Given the description of an element on the screen output the (x, y) to click on. 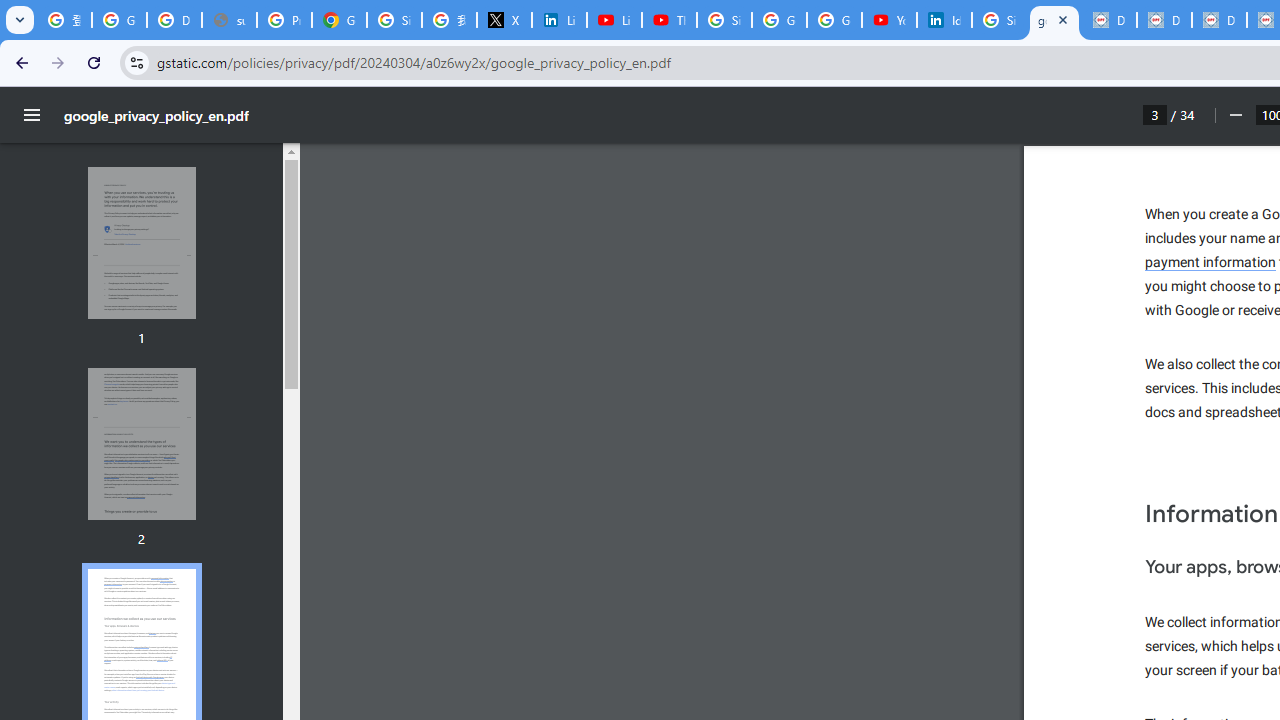
Sign in - Google Accounts (394, 20)
LinkedIn Privacy Policy (559, 20)
Data Privacy Framework (1108, 20)
support.google.com - Network error (229, 20)
Page number (1155, 114)
X (504, 20)
Thumbnail for page 1 (141, 243)
AutomationID: thumbnail (141, 443)
Data Privacy Framework (1163, 20)
Menu (31, 115)
